Given the description of an element on the screen output the (x, y) to click on. 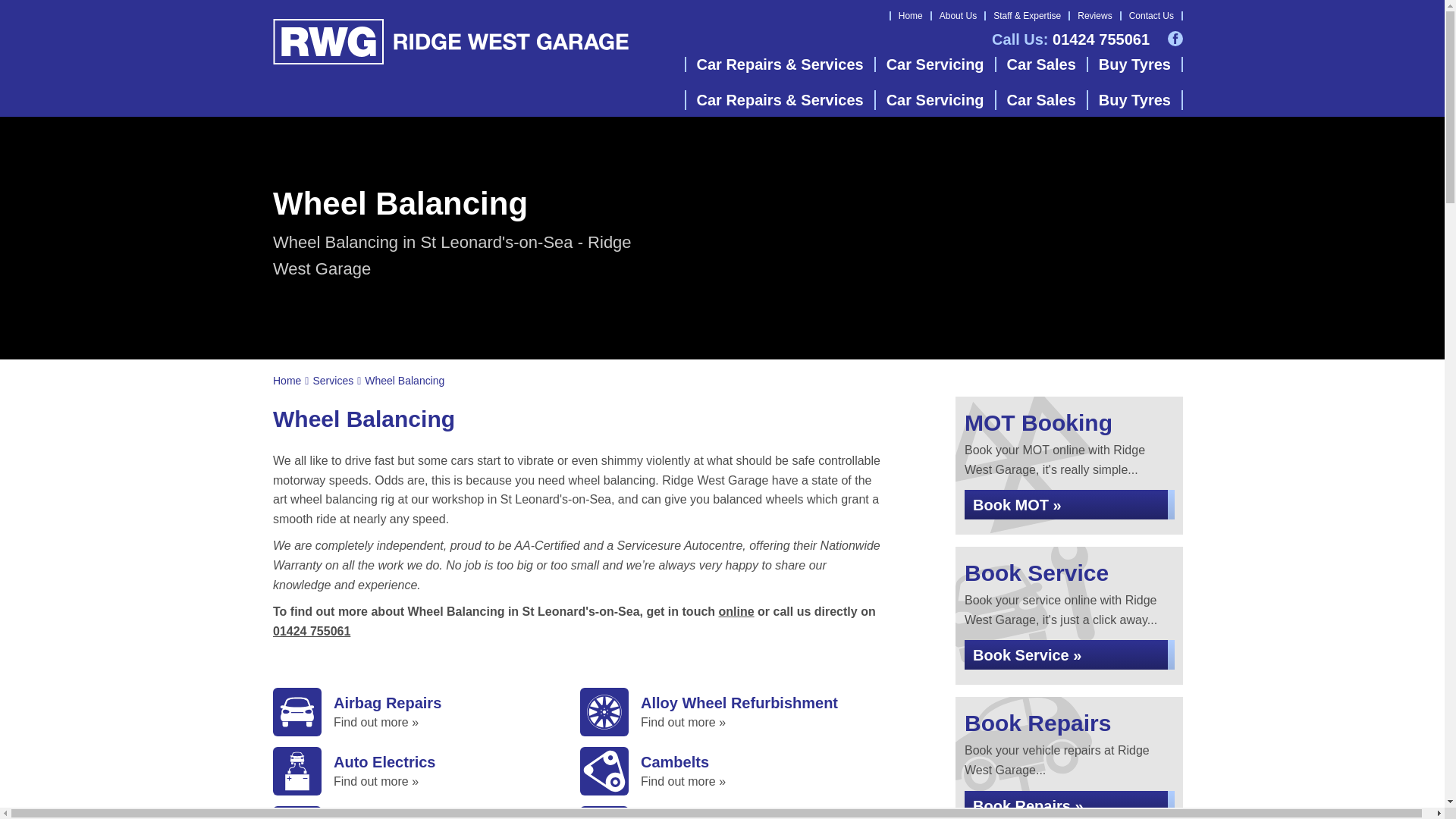
Buy Tyres (1134, 64)
Contact Us (1151, 15)
About Us (957, 15)
Car Servicing (935, 64)
Call Us: 01424 755061 (1070, 38)
Reviews (1094, 15)
Home (910, 15)
Car Sales (1041, 64)
